Given the description of an element on the screen output the (x, y) to click on. 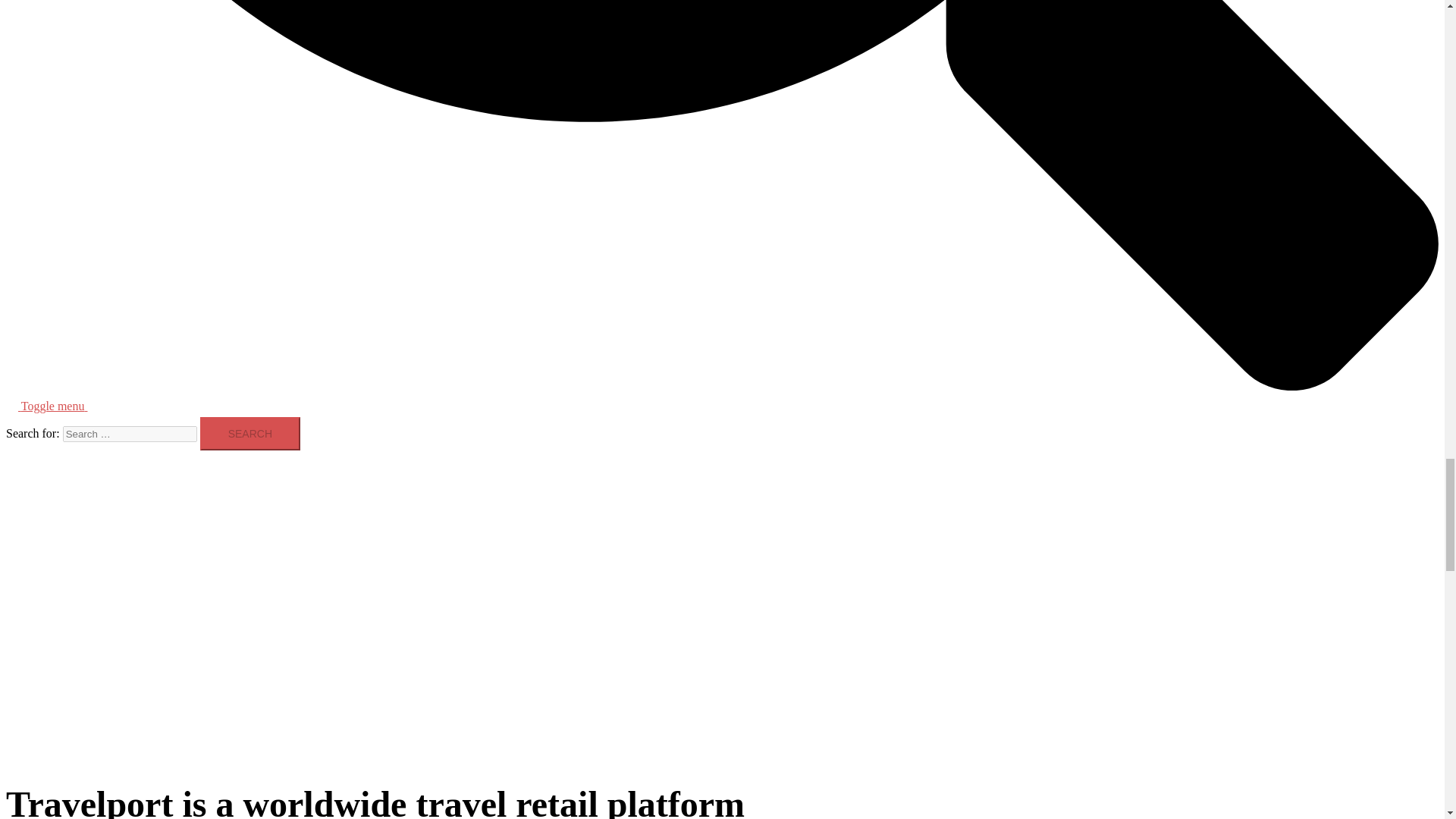
Toggle menu (60, 405)
Search (249, 433)
Search (249, 433)
Search (249, 433)
